Given the description of an element on the screen output the (x, y) to click on. 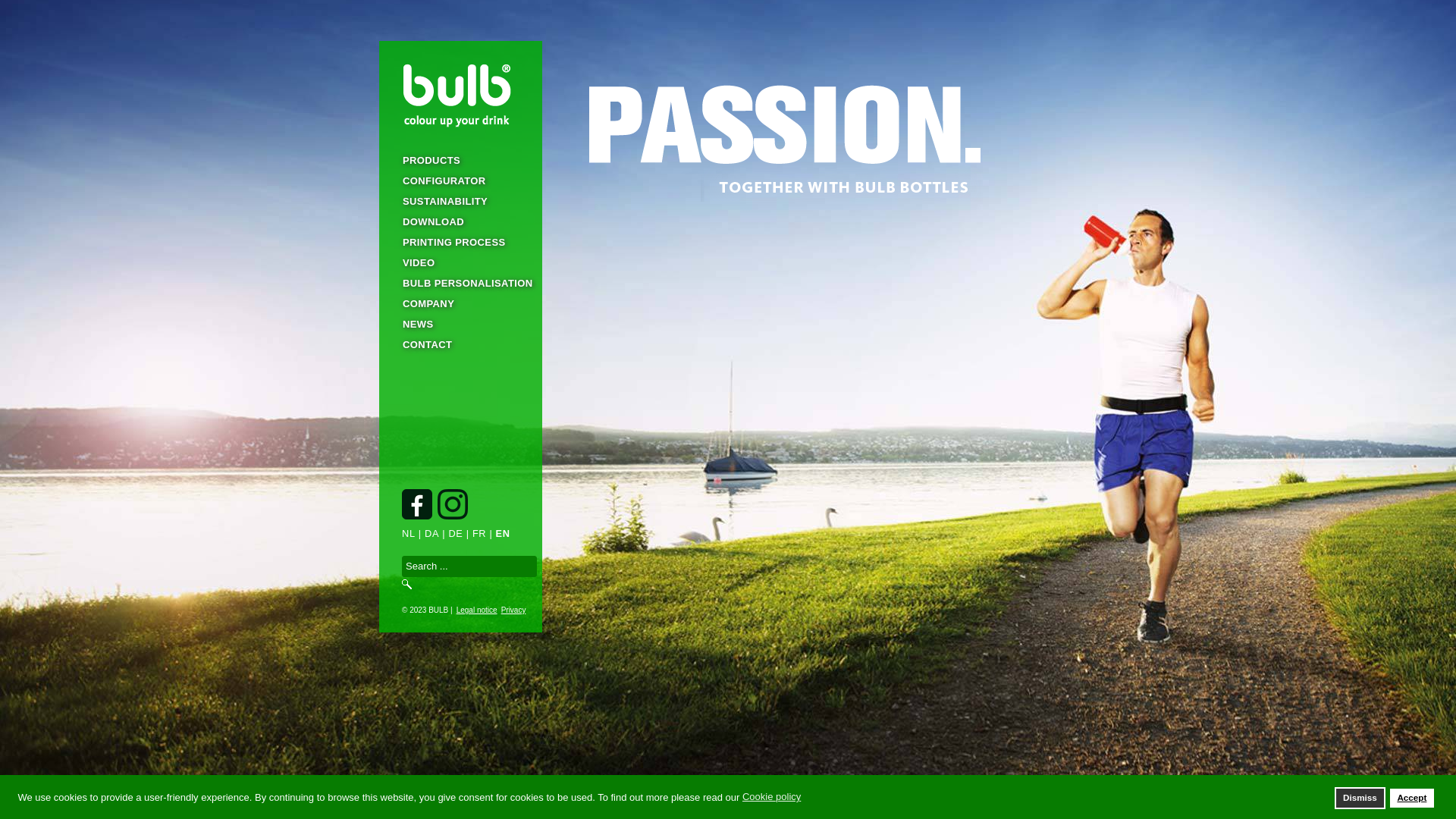
EN Element type: text (502, 533)
COMPANY Element type: text (460, 303)
BULB PERSONALISATION Element type: text (460, 283)
Legal notice Element type: text (474, 610)
Cookie policy Element type: text (772, 797)
Dismiss Element type: text (1360, 798)
VIDEO Element type: text (460, 262)
PRINTING PROCESS Element type: text (460, 242)
1 Element type: text (704, 792)
Privacy Element type: text (511, 610)
NEWS Element type: text (460, 323)
DE Element type: text (455, 533)
DA Element type: text (431, 533)
CONTACT Element type: text (460, 344)
SUSTAINABILITY Element type: text (460, 201)
2 Element type: text (727, 792)
NL Element type: text (408, 533)
CONFIGURATOR Element type: text (460, 180)
DOWNLOAD Element type: text (460, 221)
PRODUCTS Element type: text (460, 160)
3 Element type: text (750, 792)
Accept Element type: text (1412, 797)
FR Element type: text (479, 533)
